Given the description of an element on the screen output the (x, y) to click on. 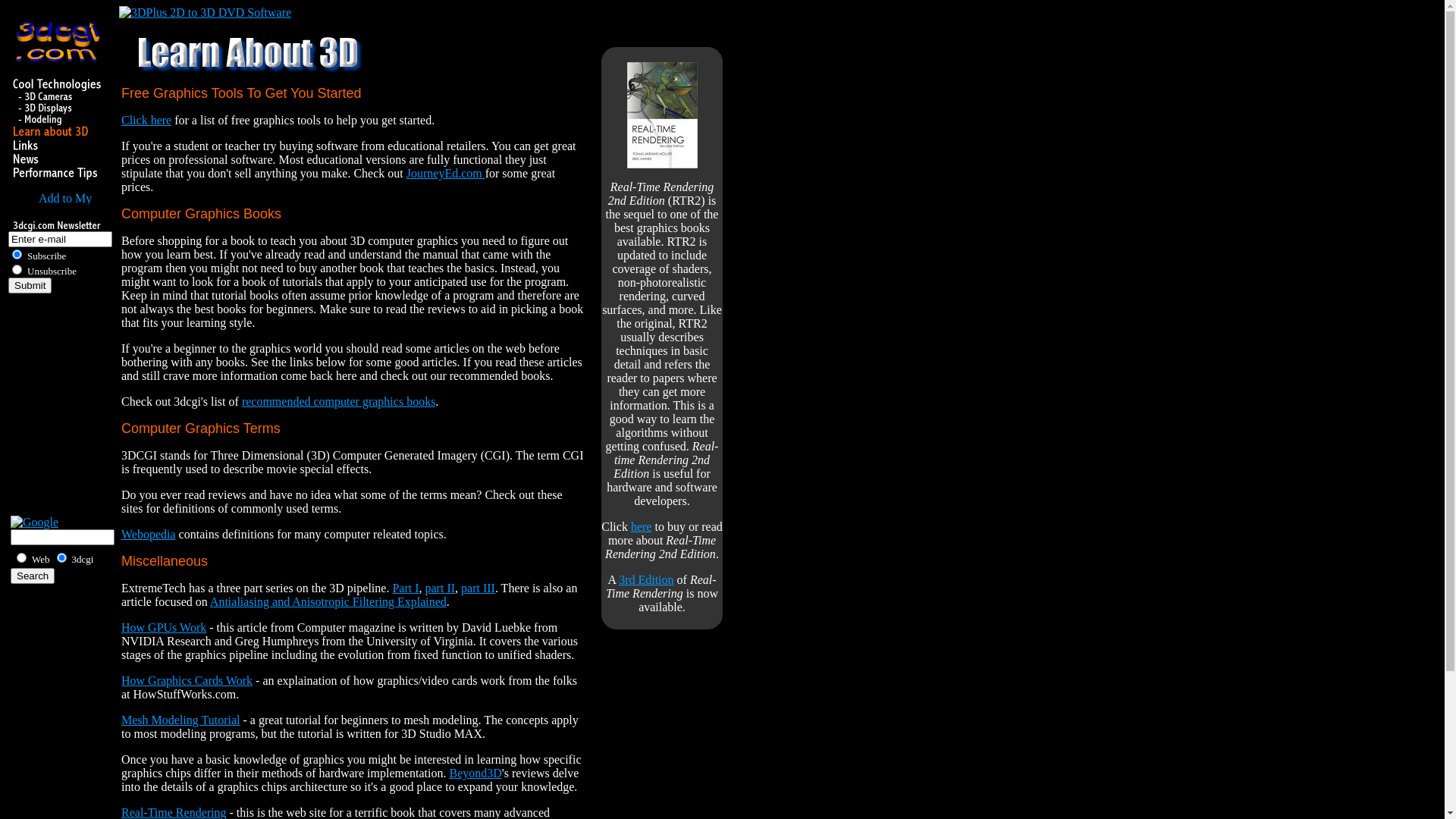
Click here Element type: text (146, 119)
part II Element type: text (440, 587)
How Graphics Cards Work Element type: text (186, 680)
Part I Element type: text (405, 587)
part III Element type: text (478, 587)
Submit Element type: text (29, 285)
Antialiasing and Anisotropic Filtering Explained Element type: text (328, 601)
Beyond3D Element type: text (474, 772)
3rd Edition Element type: text (645, 579)
How GPUs Work Element type: text (163, 627)
JourneyEd.com Element type: text (445, 172)
Advertisement Element type: hover (53, 410)
here Element type: text (641, 526)
Search Element type: text (32, 575)
Mesh Modeling Tutorial Element type: text (180, 719)
recommended computer graphics books Element type: text (338, 401)
Webopedia Element type: text (148, 533)
